Given the description of an element on the screen output the (x, y) to click on. 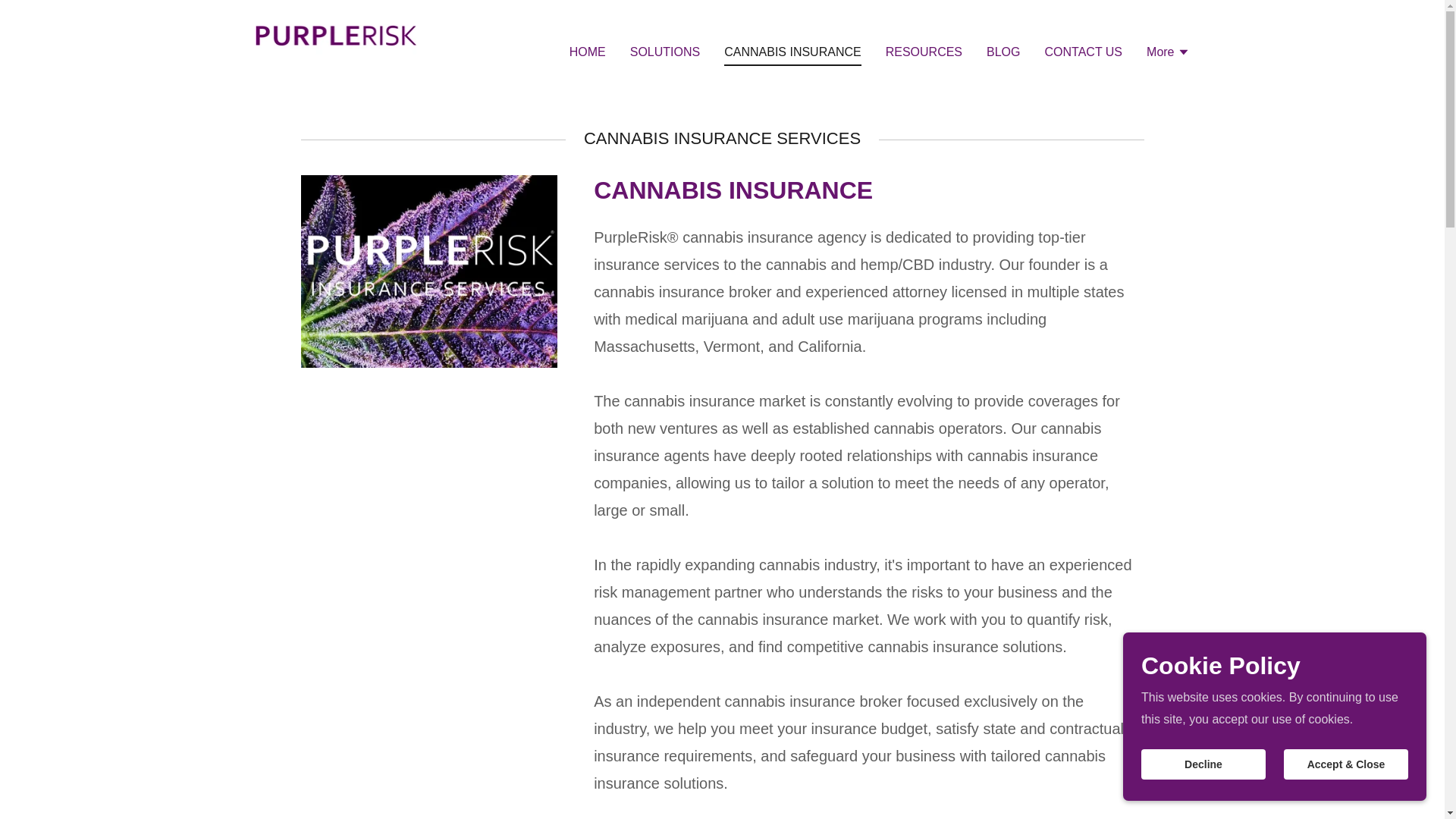
HOME (587, 50)
Decline (1203, 764)
More (1168, 52)
RESOURCES (923, 50)
BLOG (1003, 50)
CONTACT US (1083, 50)
CANNABIS INSURANCE (791, 53)
SOLUTIONS (665, 50)
